Given the description of an element on the screen output the (x, y) to click on. 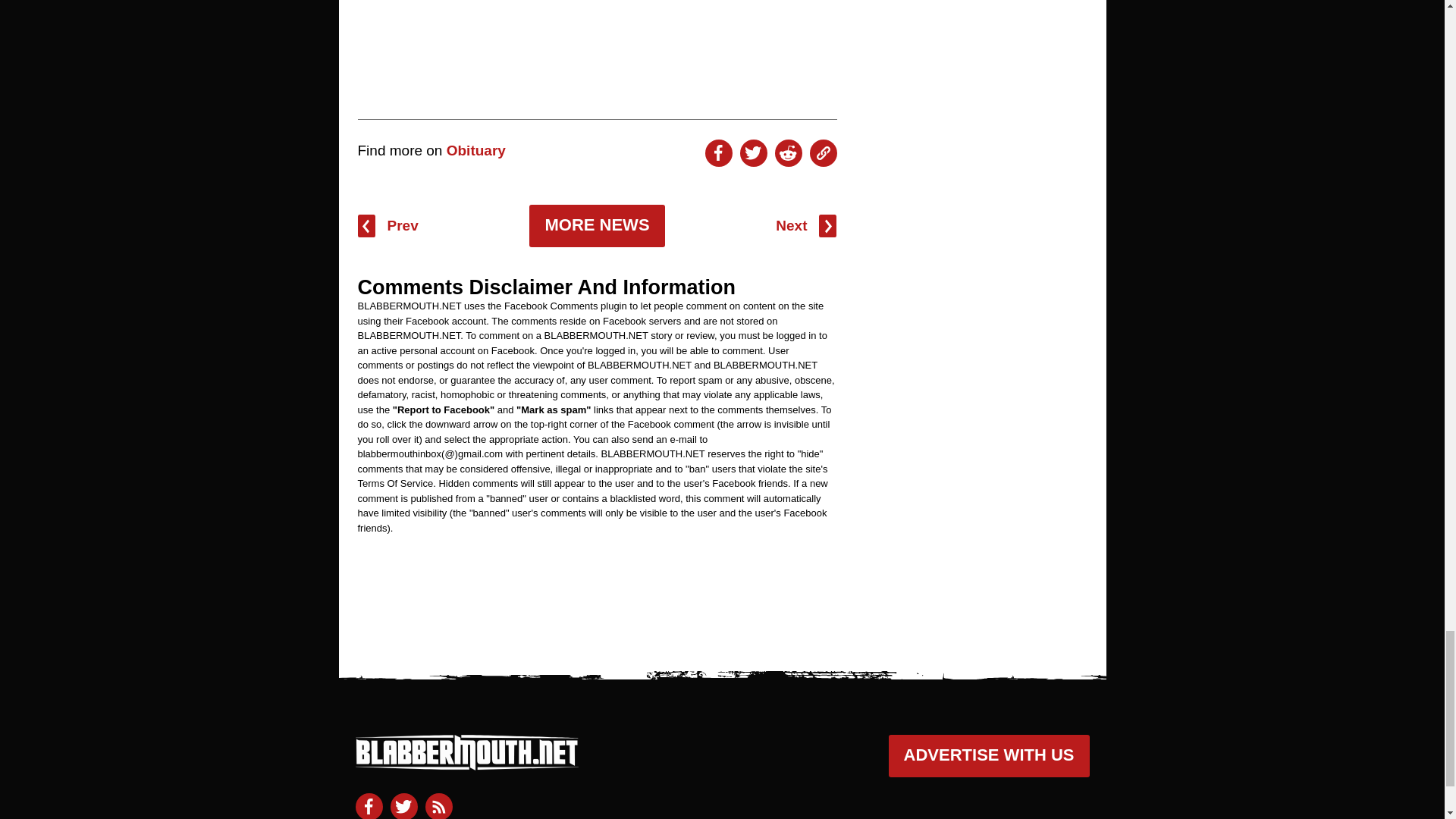
Share On Facebook (718, 153)
Obituary (475, 150)
Prev (388, 225)
Copy To Clipboard (823, 153)
blabbermouth (466, 763)
Share On Twitter (753, 153)
Next (805, 225)
MORE NEWS (596, 225)
Share On Reddit (788, 153)
